Given the description of an element on the screen output the (x, y) to click on. 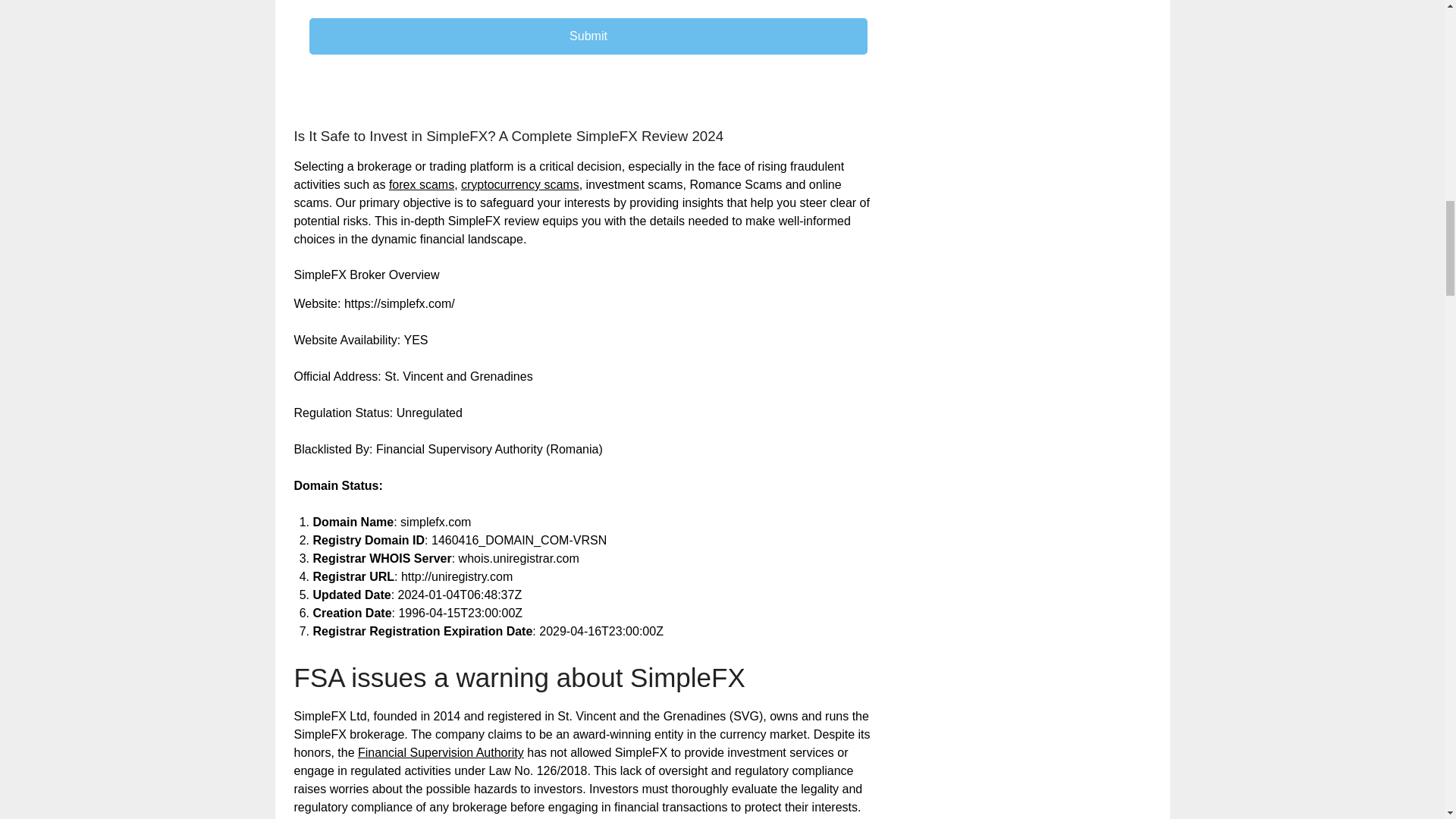
cryptocurrency scams (520, 184)
forex scams (421, 184)
Financial Supervision Authority (441, 752)
